Given the description of an element on the screen output the (x, y) to click on. 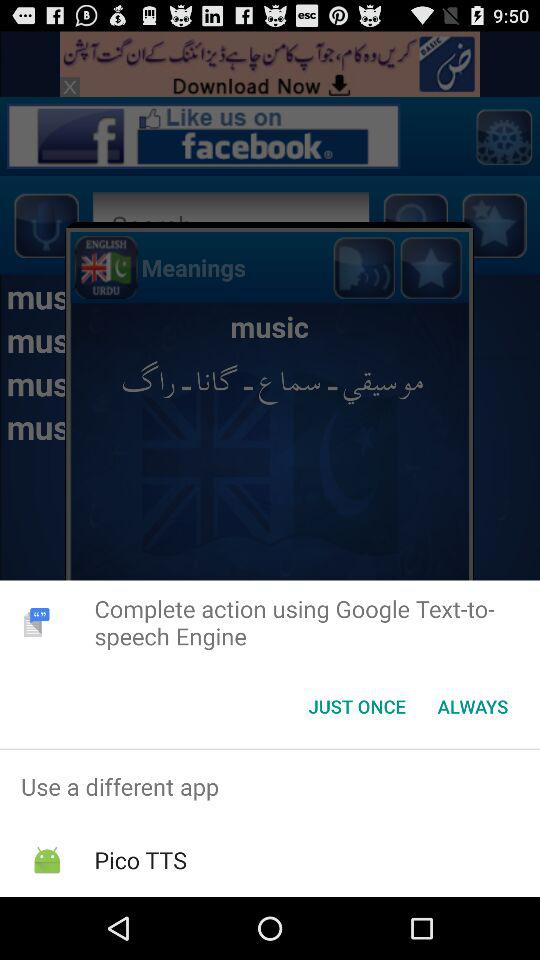
select the item next to the just once (472, 706)
